Given the description of an element on the screen output the (x, y) to click on. 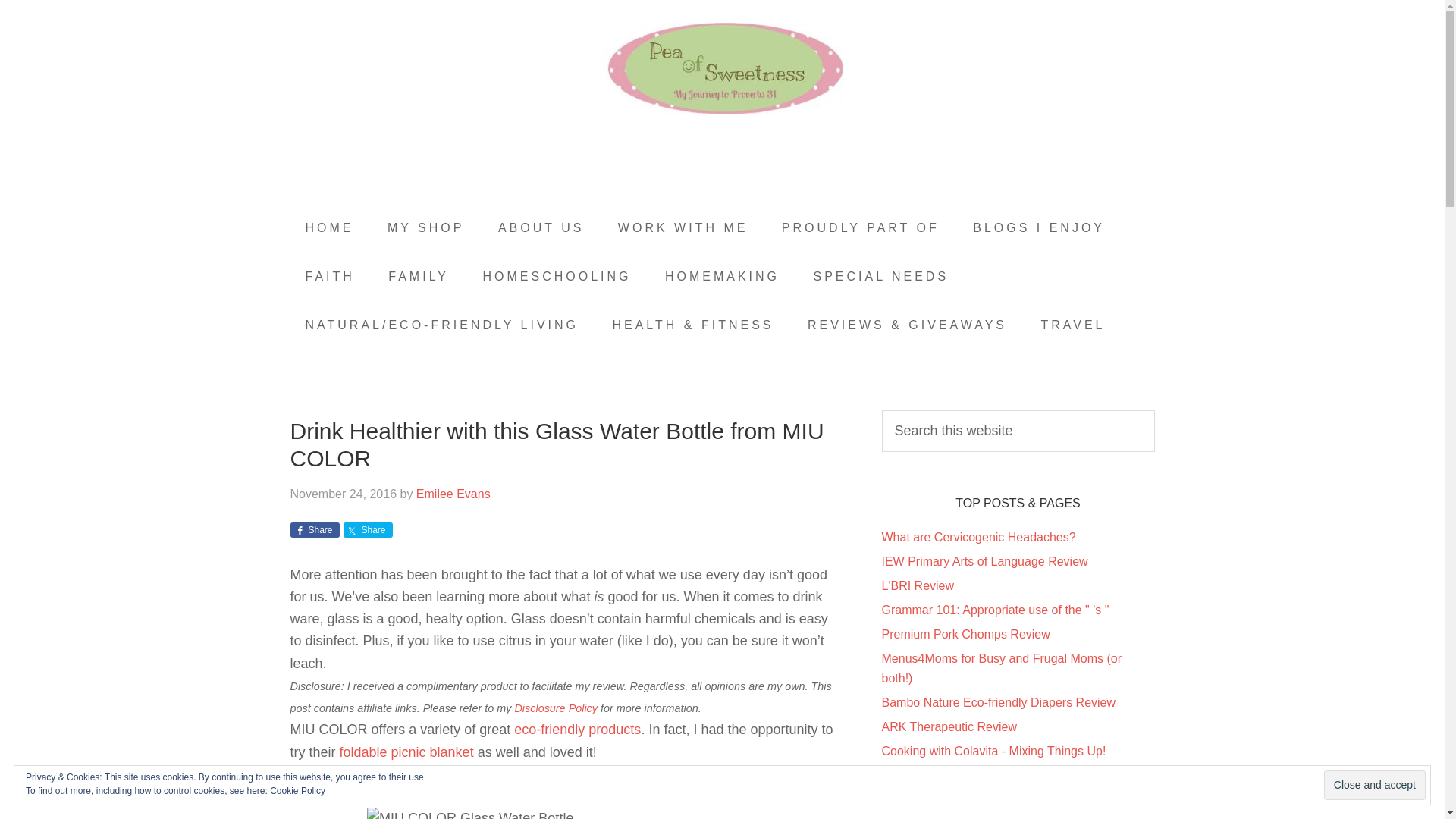
BLOGS I ENJOY (1038, 227)
HOMEMAKING (721, 276)
HOME (328, 227)
FAITH (329, 276)
FAMILY (418, 276)
Close and accept (1374, 785)
PROUDLY PART OF (861, 227)
Pea of Sweetness (721, 67)
ABOUT US (541, 227)
HOMESCHOOLING (556, 276)
WORK WITH ME (682, 227)
SPECIAL NEEDS (880, 276)
MY SHOP (426, 227)
